Given the description of an element on the screen output the (x, y) to click on. 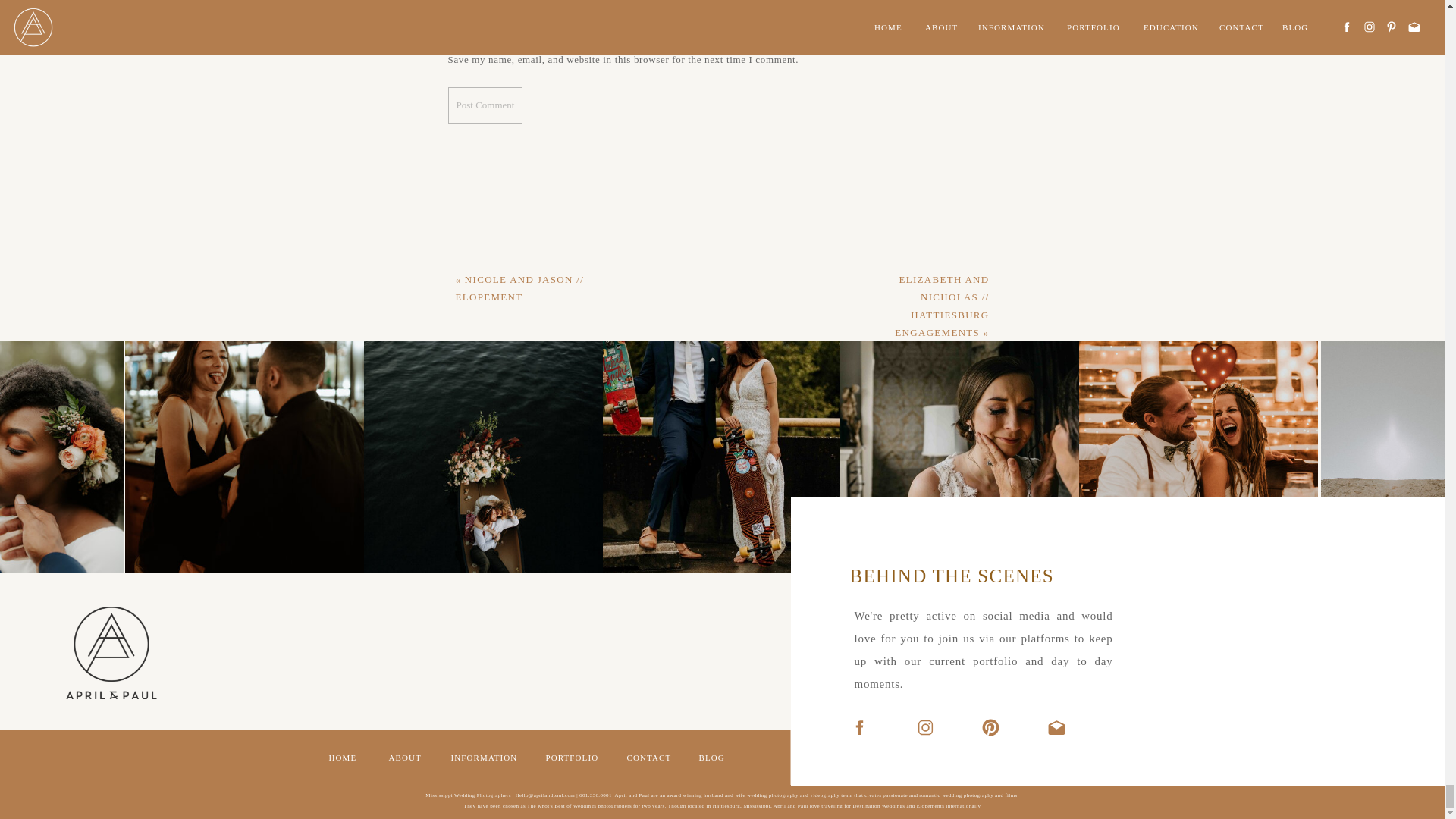
ABOUT (408, 760)
HOME (347, 760)
PORTFOLIO (575, 760)
Post Comment (484, 104)
CONTACT (651, 760)
INFORMATION (485, 760)
yes (454, 40)
BLOG (715, 760)
Post Comment (484, 104)
